Given the description of an element on the screen output the (x, y) to click on. 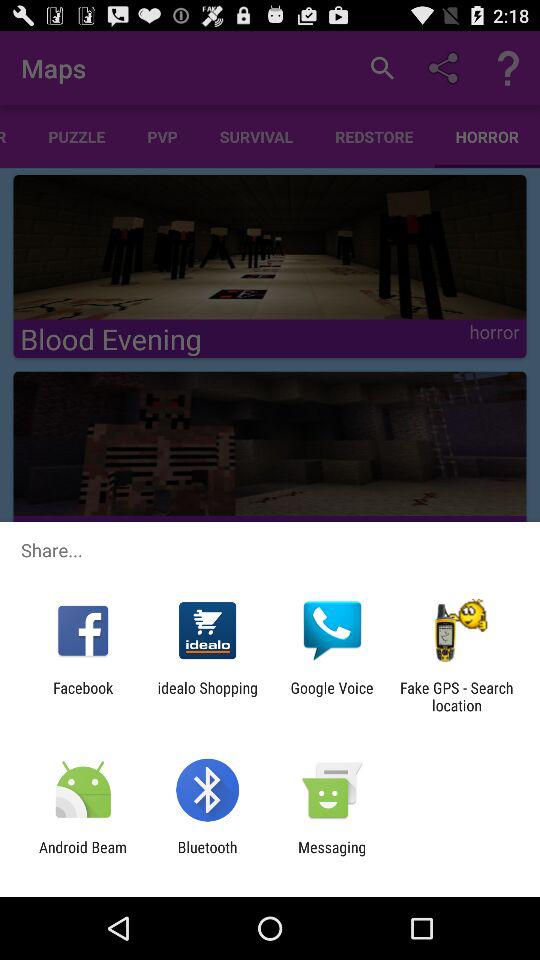
select the icon next to fake gps search icon (331, 696)
